Given the description of an element on the screen output the (x, y) to click on. 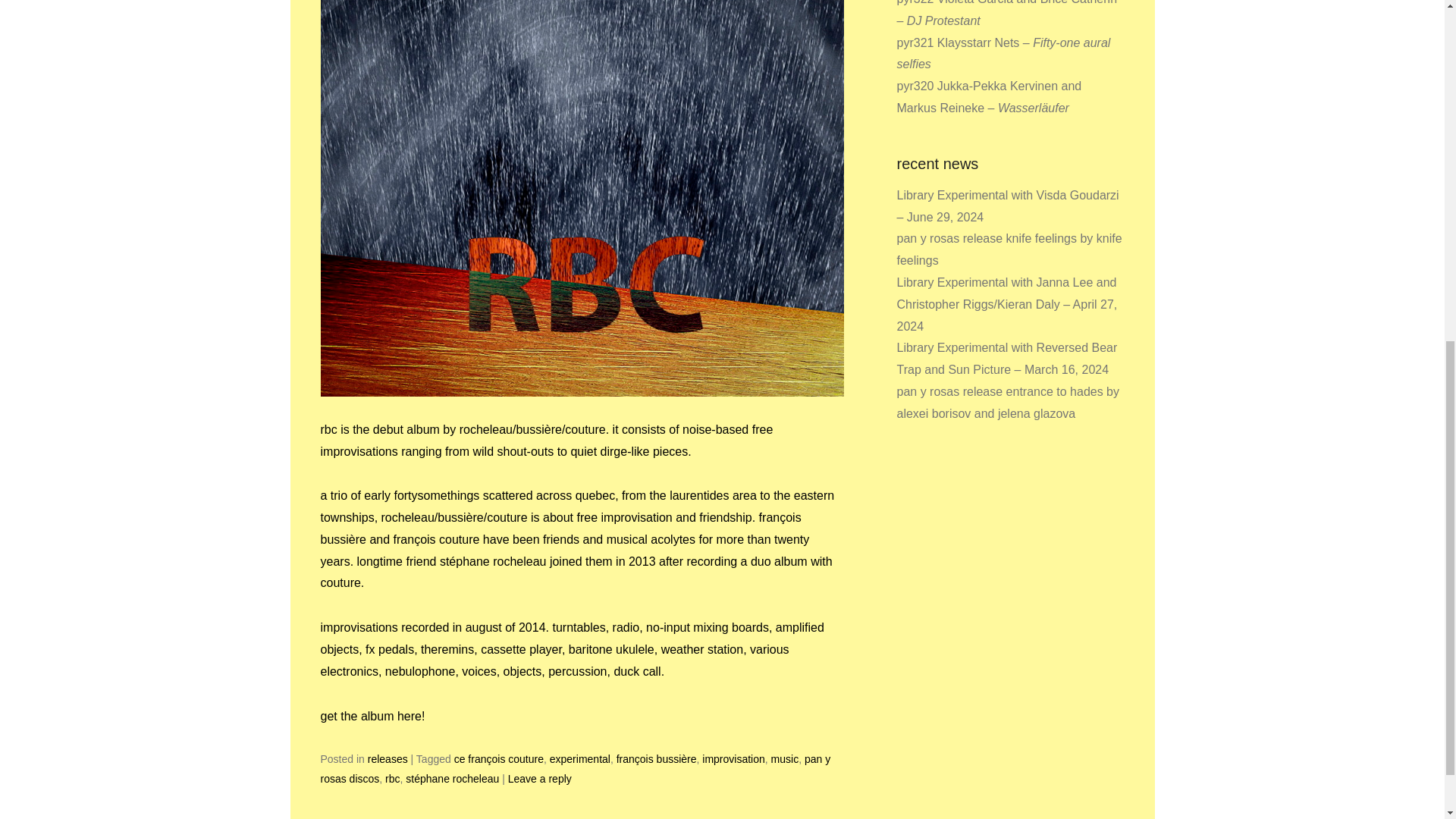
music (785, 758)
Leave a reply (540, 778)
improvisation (732, 758)
pan y rosas release knife feelings by knife feelings (1008, 248)
experimental (580, 758)
releases (387, 758)
here! (411, 716)
rbc (391, 778)
pan y rosas discos (574, 767)
